Given the description of an element on the screen output the (x, y) to click on. 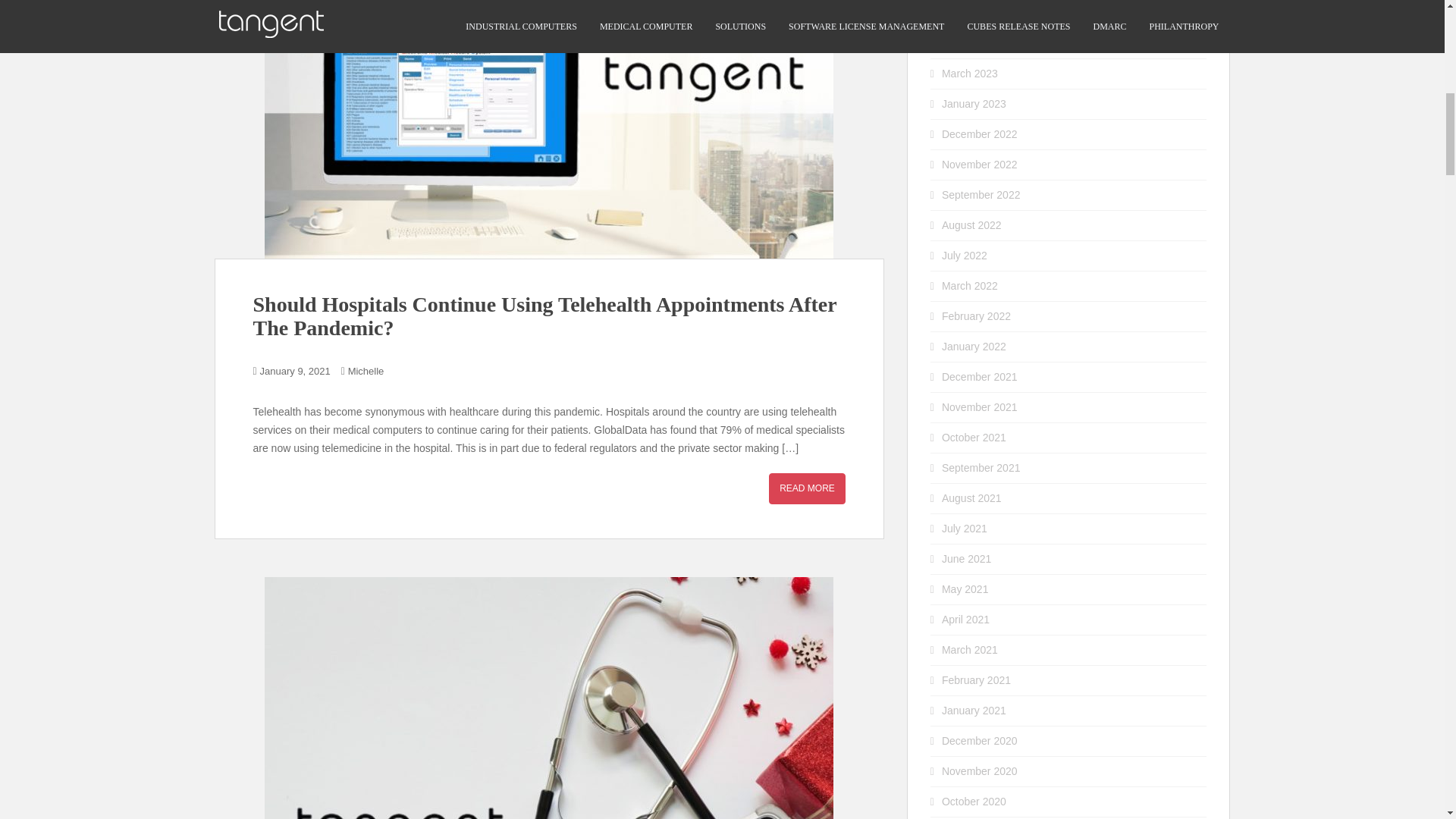
January 9, 2021 (295, 370)
Michelle (365, 370)
READ MORE (806, 488)
